Given the description of an element on the screen output the (x, y) to click on. 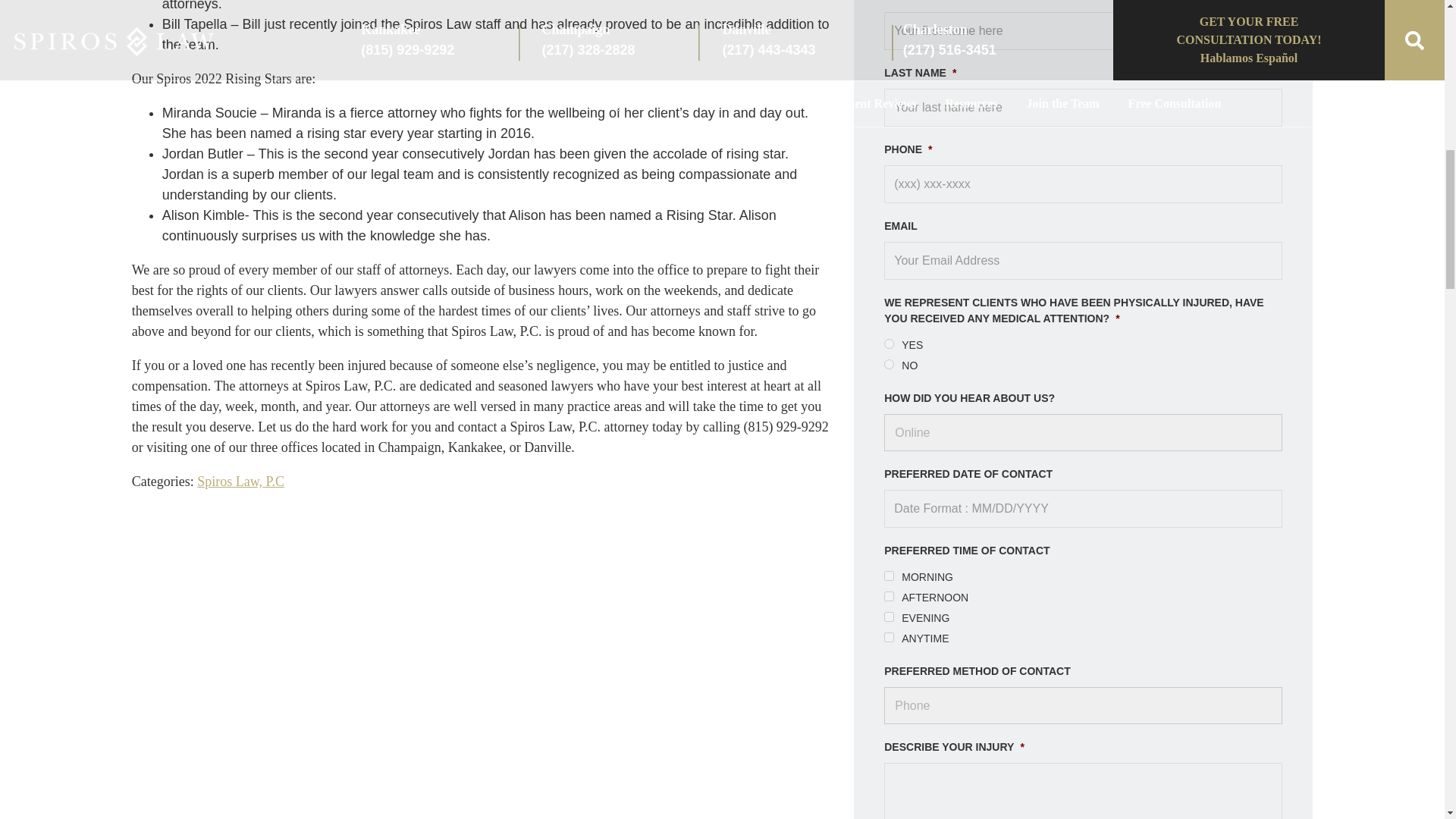
No (888, 364)
Spiros Law, P.C (239, 481)
Morning (888, 575)
Evening (888, 616)
Yes (888, 343)
Afternoon (888, 596)
Anytime (888, 637)
